Given the description of an element on the screen output the (x, y) to click on. 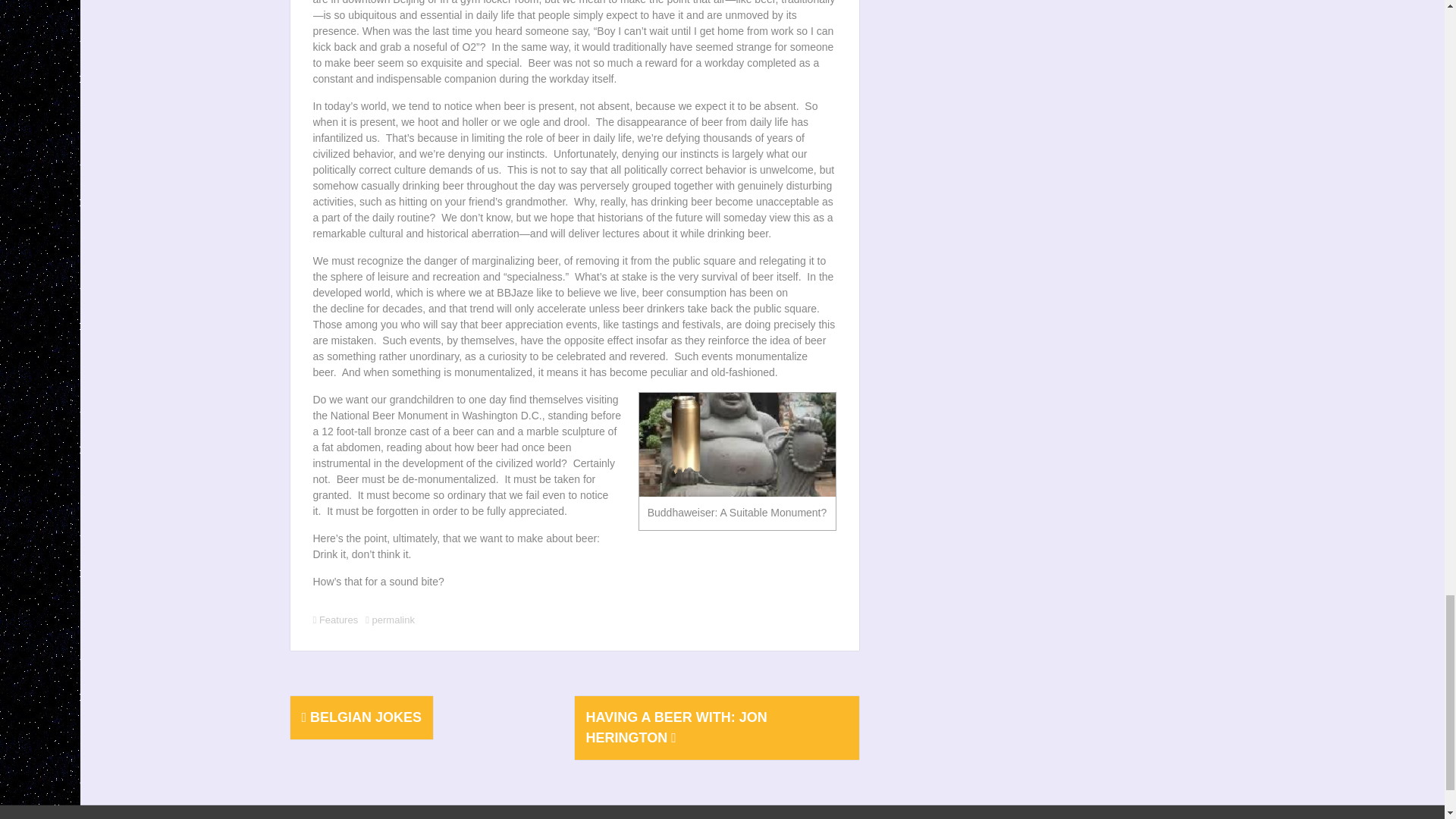
permalink (391, 619)
HAVING A BEER WITH: JON HERINGTON (676, 727)
Buddhaweiser (736, 444)
BELGIAN JOKES (361, 717)
Features (338, 619)
